Given the description of an element on the screen output the (x, y) to click on. 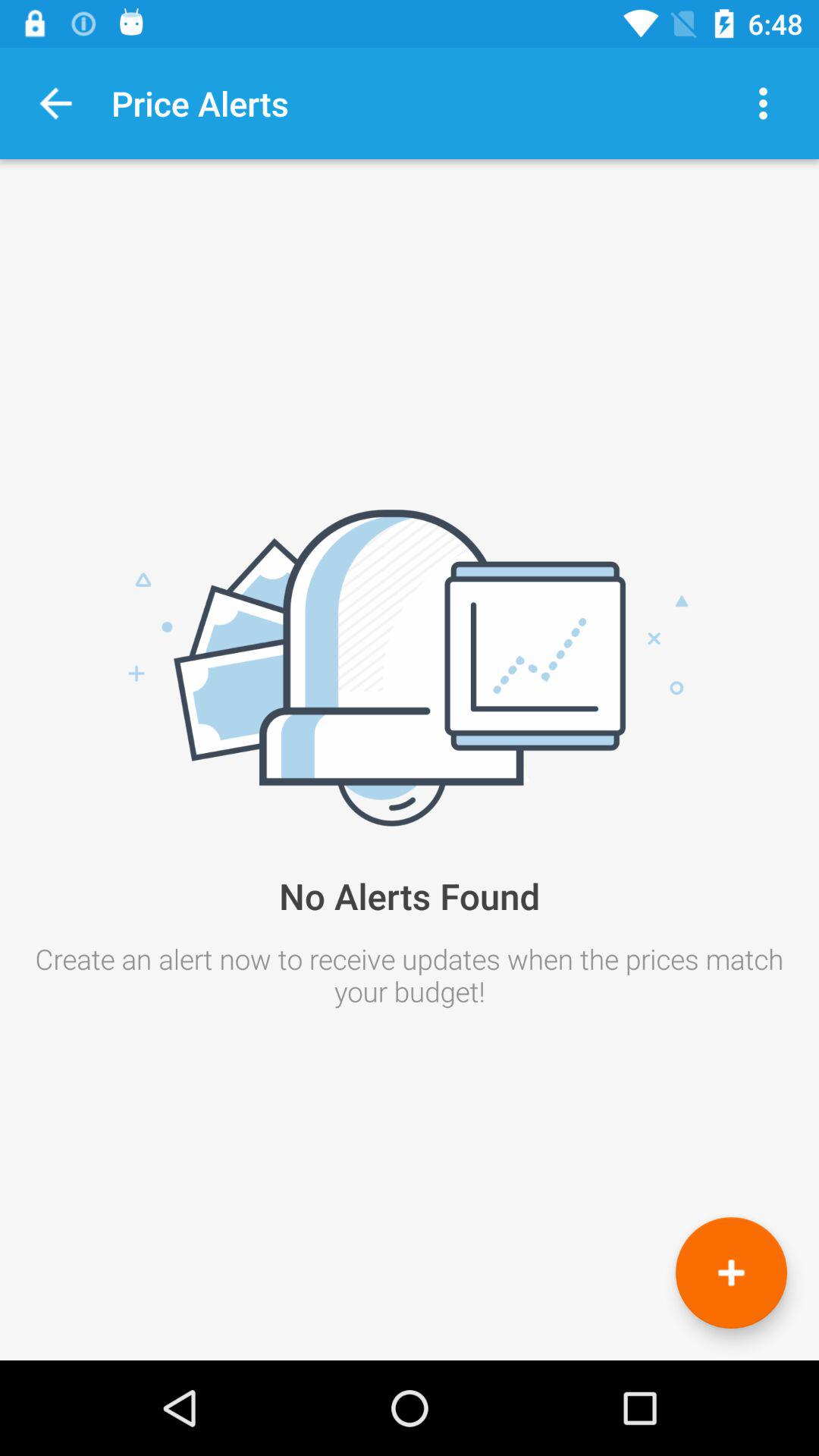
options (763, 103)
